Given the description of an element on the screen output the (x, y) to click on. 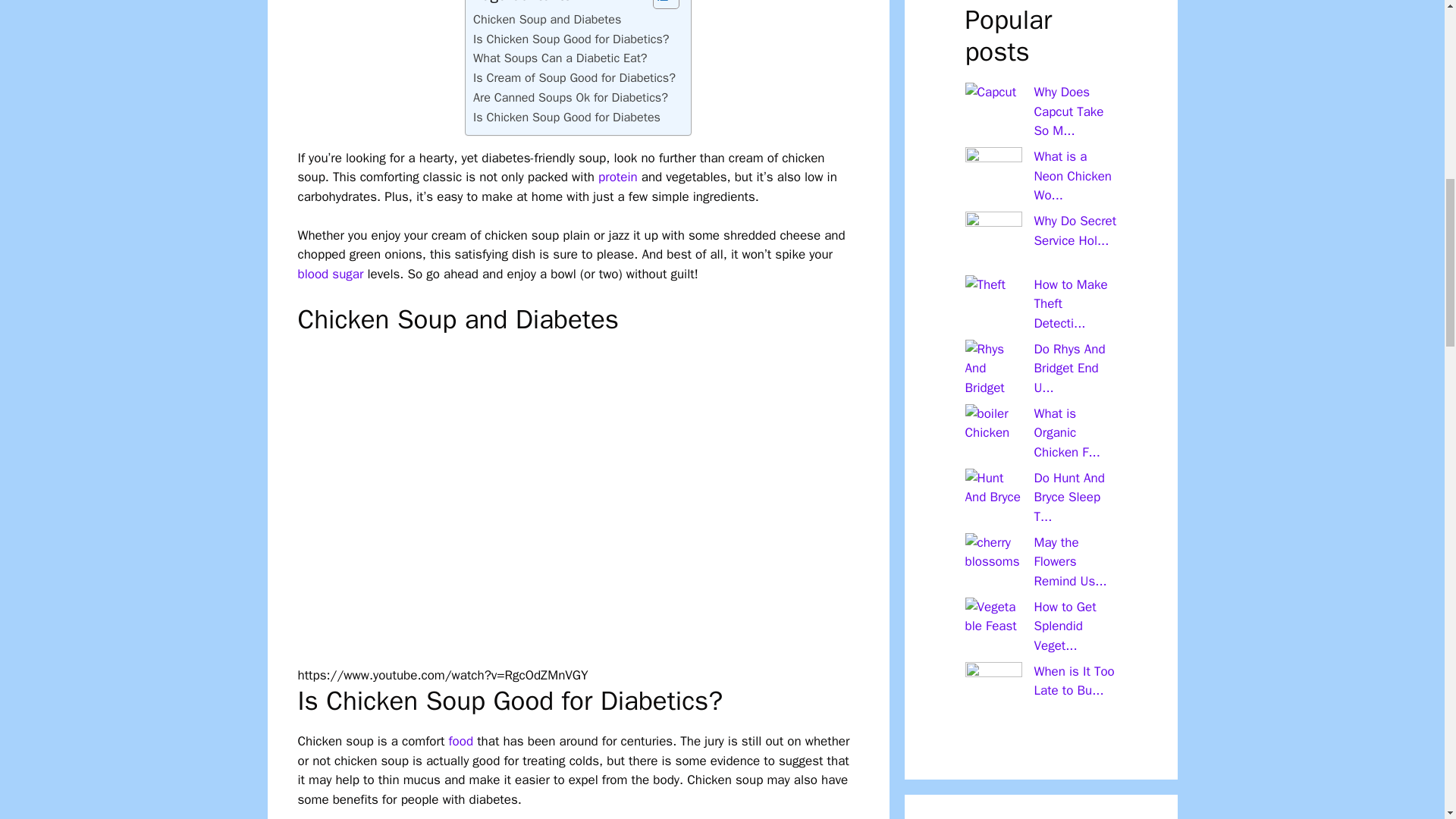
Chicken Soup and Diabetes (547, 19)
food (460, 741)
Are Canned Soups Ok for Diabetics? (570, 97)
protein (617, 176)
blood sugar (329, 273)
Chicken Soup and Diabetes (547, 19)
Is Cream of Soup Good for Diabetics? (574, 77)
Is Chicken Soup Good for Diabetics? (571, 39)
Is Chicken Soup Good for Diabetes (567, 117)
What Soups Can a Diabetic Eat? (560, 57)
